Given the description of an element on the screen output the (x, y) to click on. 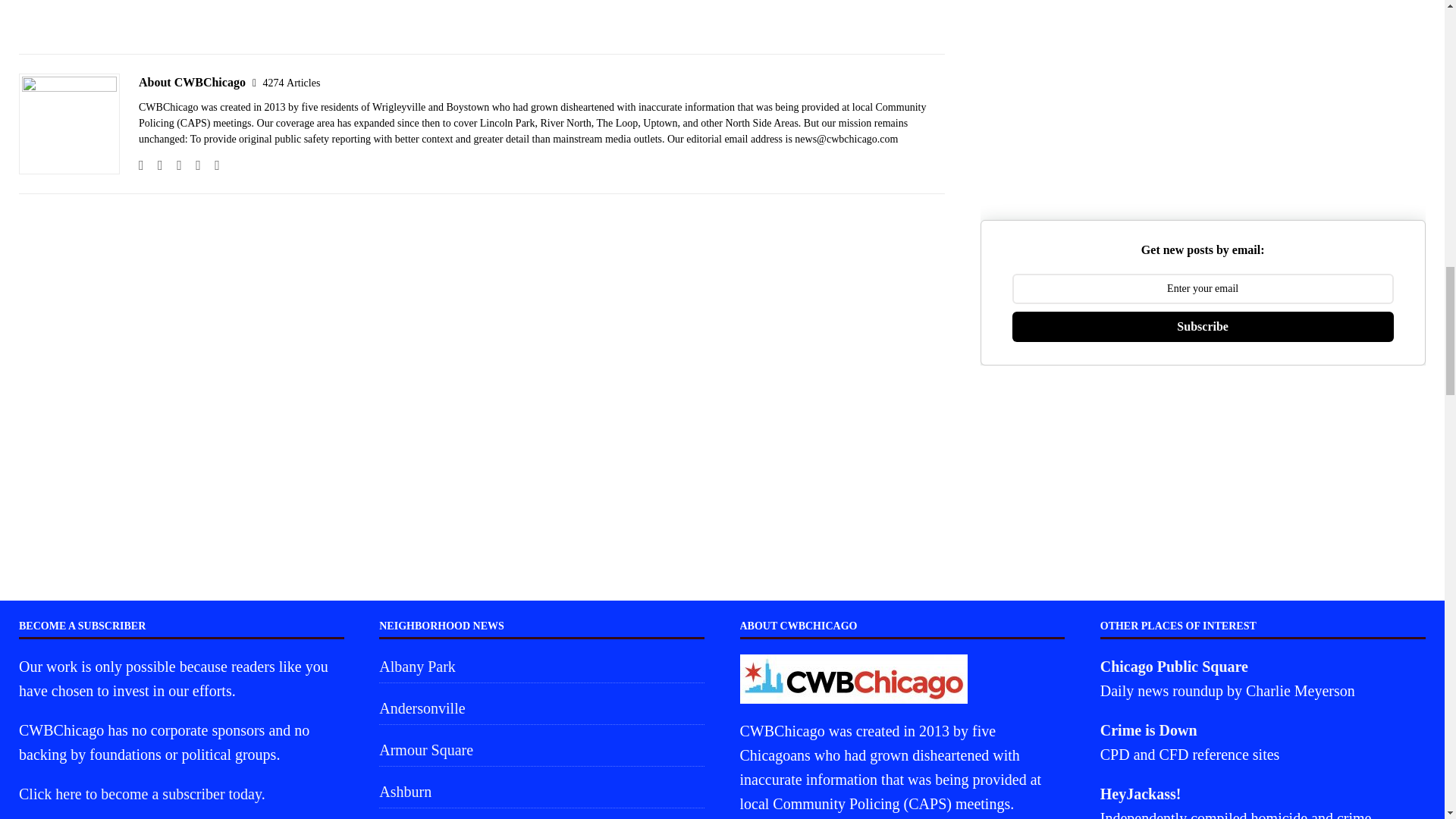
Click here to become a subscriber today. (141, 793)
4274 Articles (291, 82)
Follow CWBChicago on Facebook (155, 164)
Albany Park (541, 668)
Subscribe (1202, 327)
Ashburn (541, 791)
Follow CWBChicago on Instagram (173, 164)
Armour Square (541, 749)
Follow CWBChicago on YouTube (211, 164)
Andersonville (541, 707)
